Given the description of an element on the screen output the (x, y) to click on. 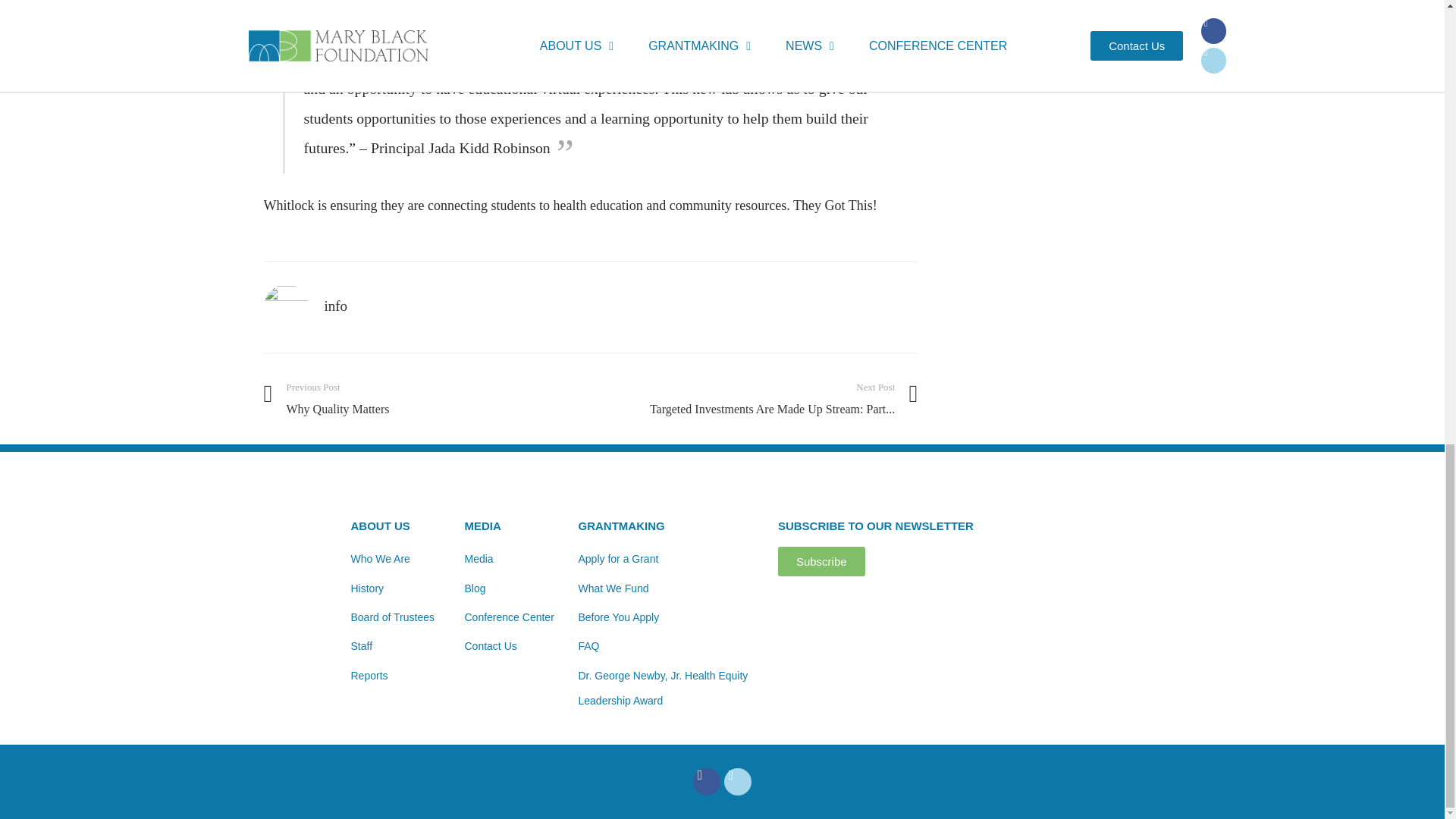
Why Quality Matters (420, 397)
Targeted Investments Are Made Up Stream: Part 2 (761, 397)
